Given the description of an element on the screen output the (x, y) to click on. 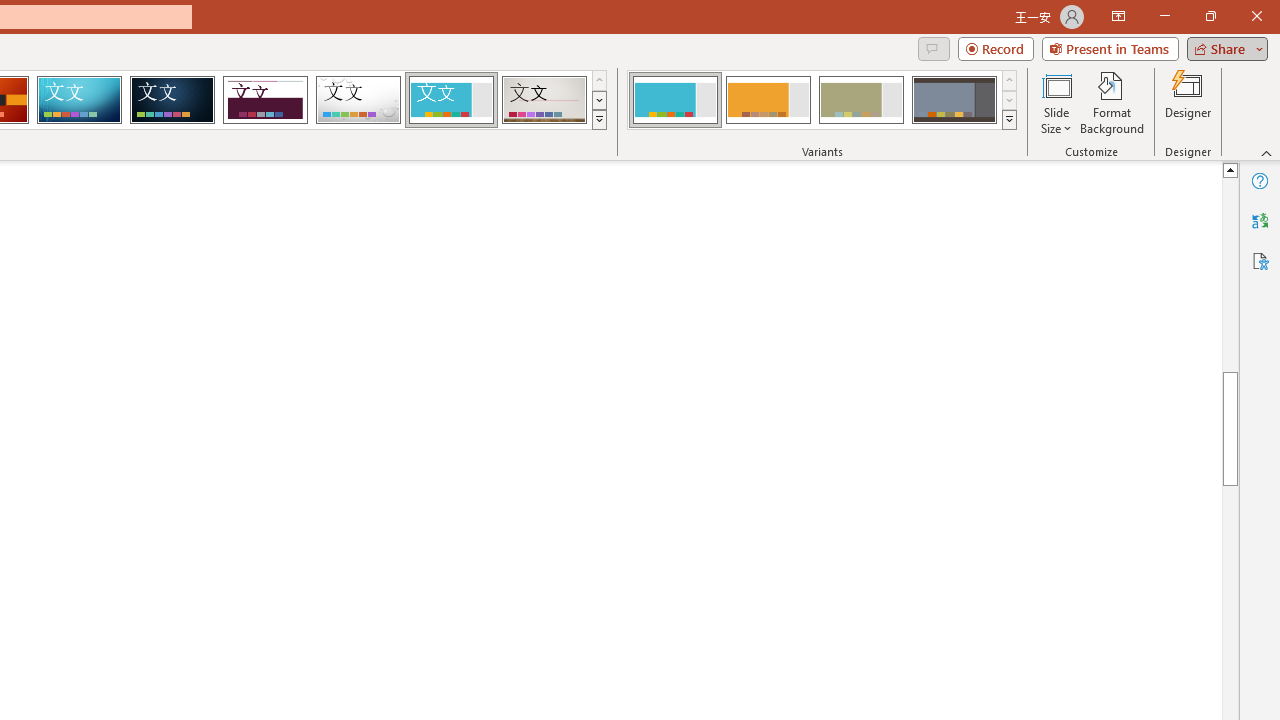
Frame Variant 3 (861, 100)
Droplet (358, 100)
TextBox 61 (742, 407)
Slide Size (1056, 102)
Frame (450, 100)
Gallery (544, 100)
